Given the description of an element on the screen output the (x, y) to click on. 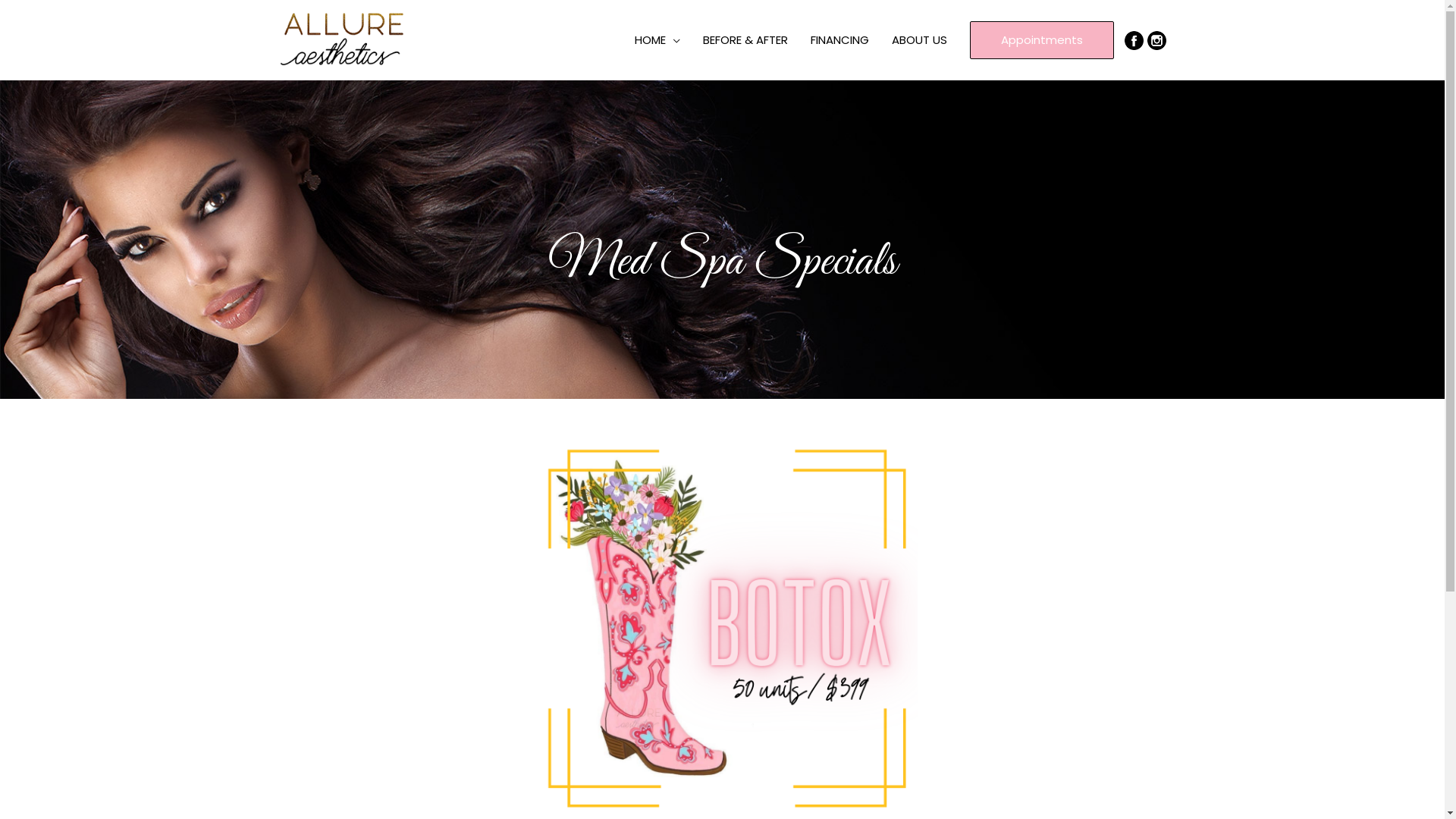
ABOUT US Element type: text (919, 39)
Appointments Element type: text (1041, 40)
BEFORE & AFTER Element type: text (745, 39)
Allure Aesthetics on Facebook Element type: hover (1133, 39)
Allure Aesthetics on Instagram Element type: hover (1155, 39)
HOME Element type: text (657, 39)
Appointments Element type: text (1041, 39)
FINANCING Element type: text (839, 39)
